Given the description of an element on the screen output the (x, y) to click on. 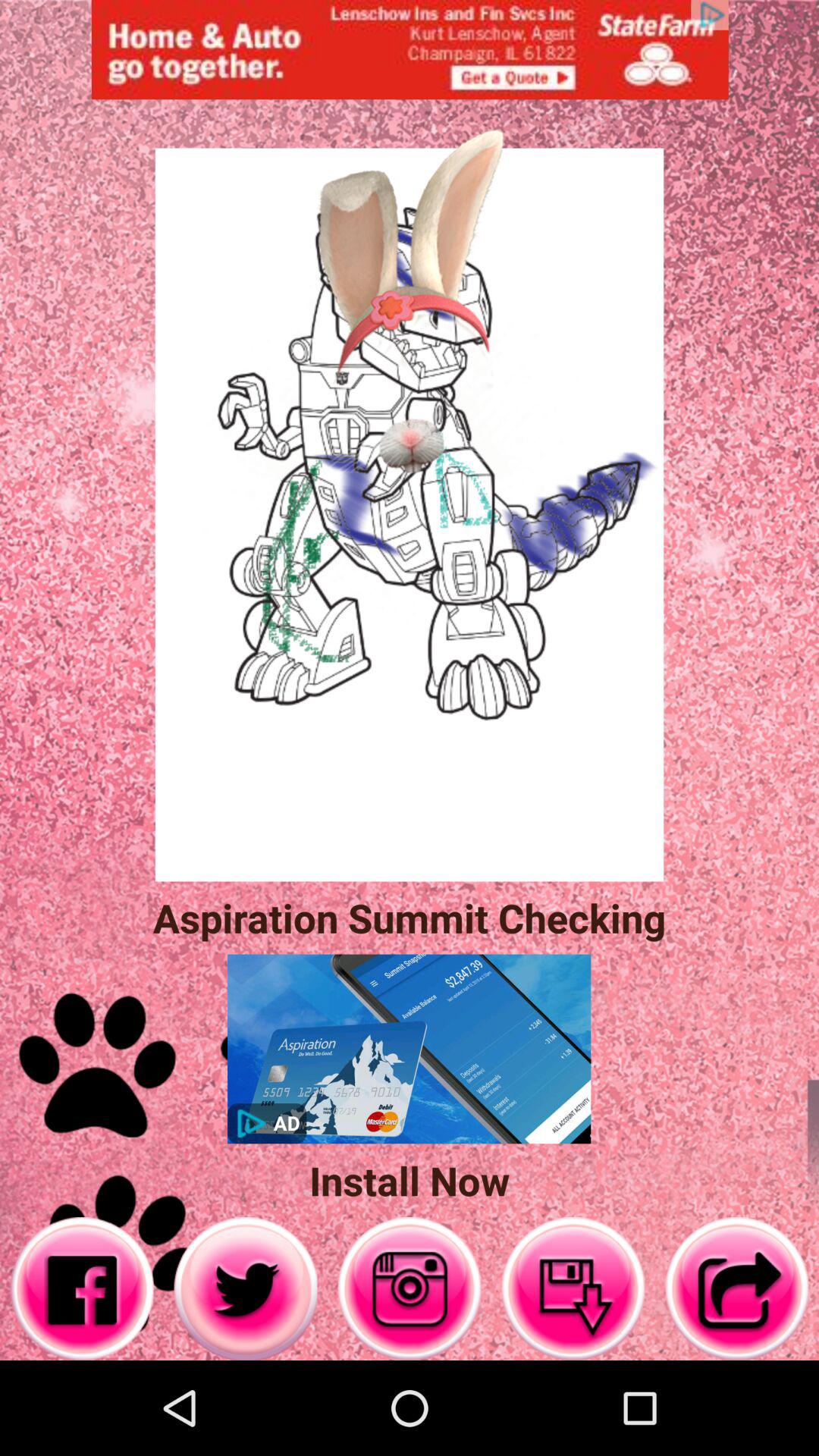
twiter page (245, 1288)
